Given the description of an element on the screen output the (x, y) to click on. 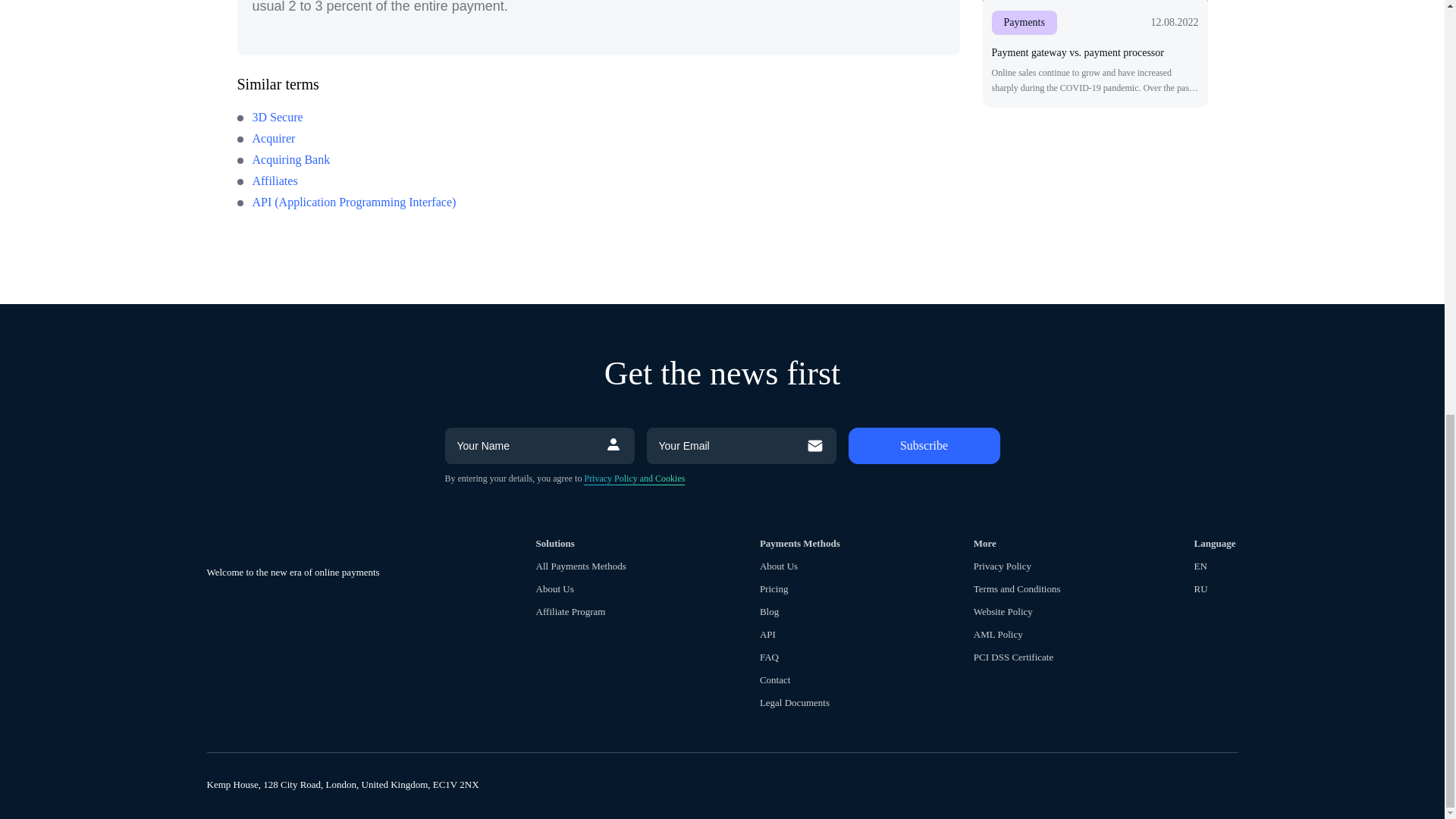
Acquiring Bank (282, 159)
Privacy Policy and Cookies (633, 478)
Acquirer (265, 137)
3D Secure (268, 116)
Affiliates (266, 180)
Subscribe (922, 445)
Payments (1024, 22)
